Given the description of an element on the screen output the (x, y) to click on. 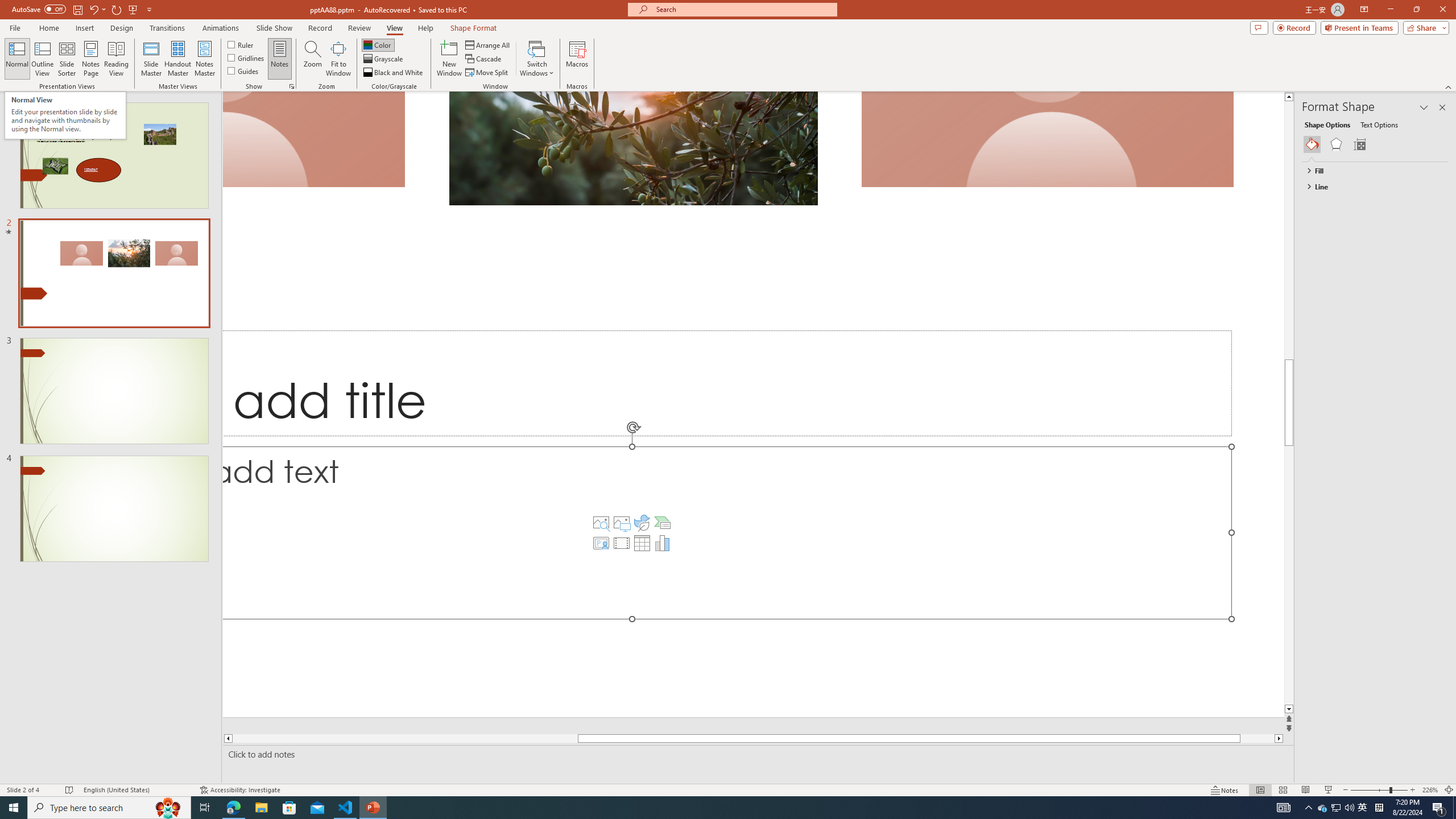
Zoom... (312, 58)
Close up of an olive branch on a sunset (633, 148)
Zoom 226% (1430, 790)
Class: NetUIGalleryContainer (1375, 144)
Shape Options (1327, 124)
